Given the description of an element on the screen output the (x, y) to click on. 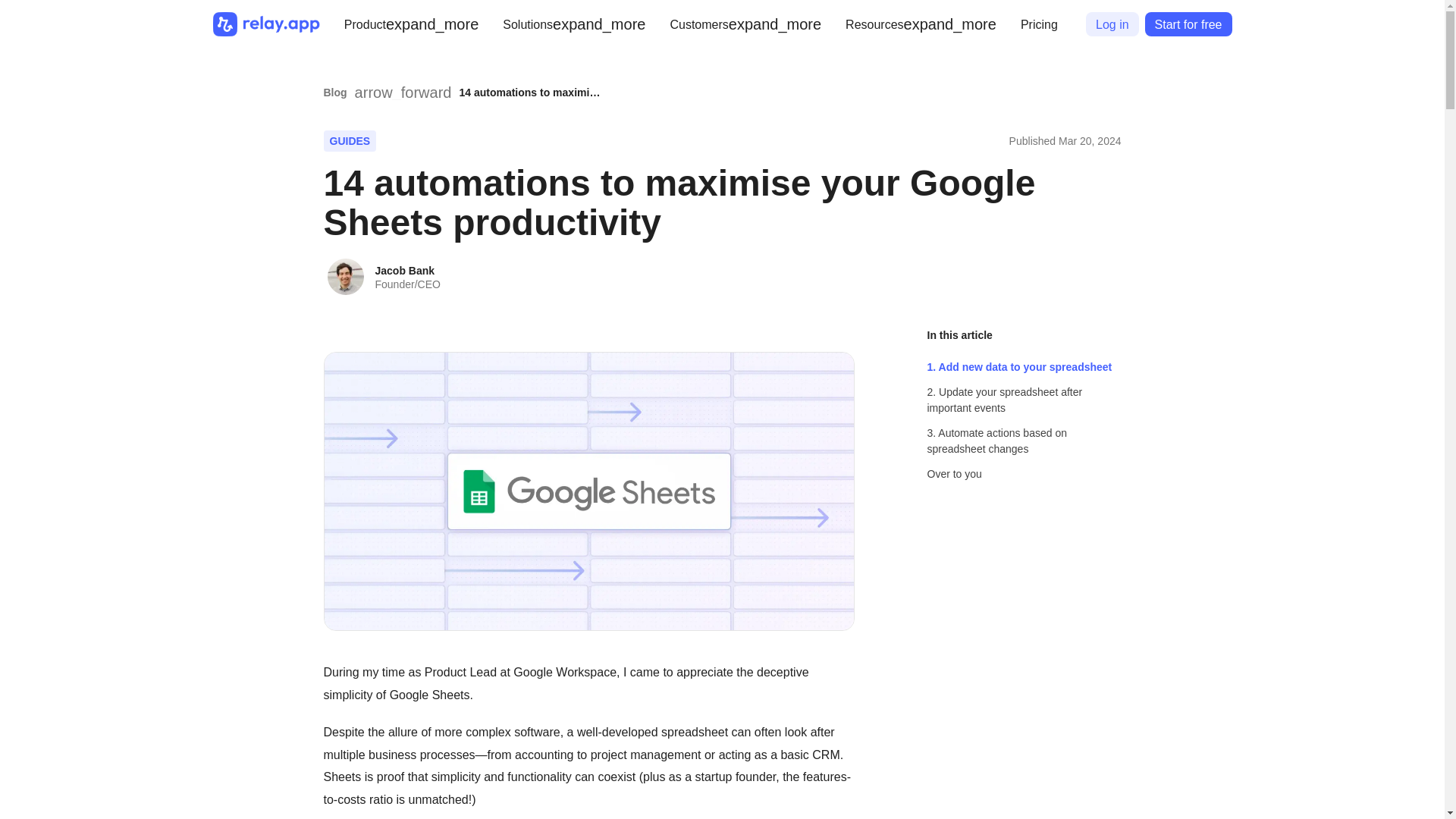
Pricing (1039, 24)
